Given the description of an element on the screen output the (x, y) to click on. 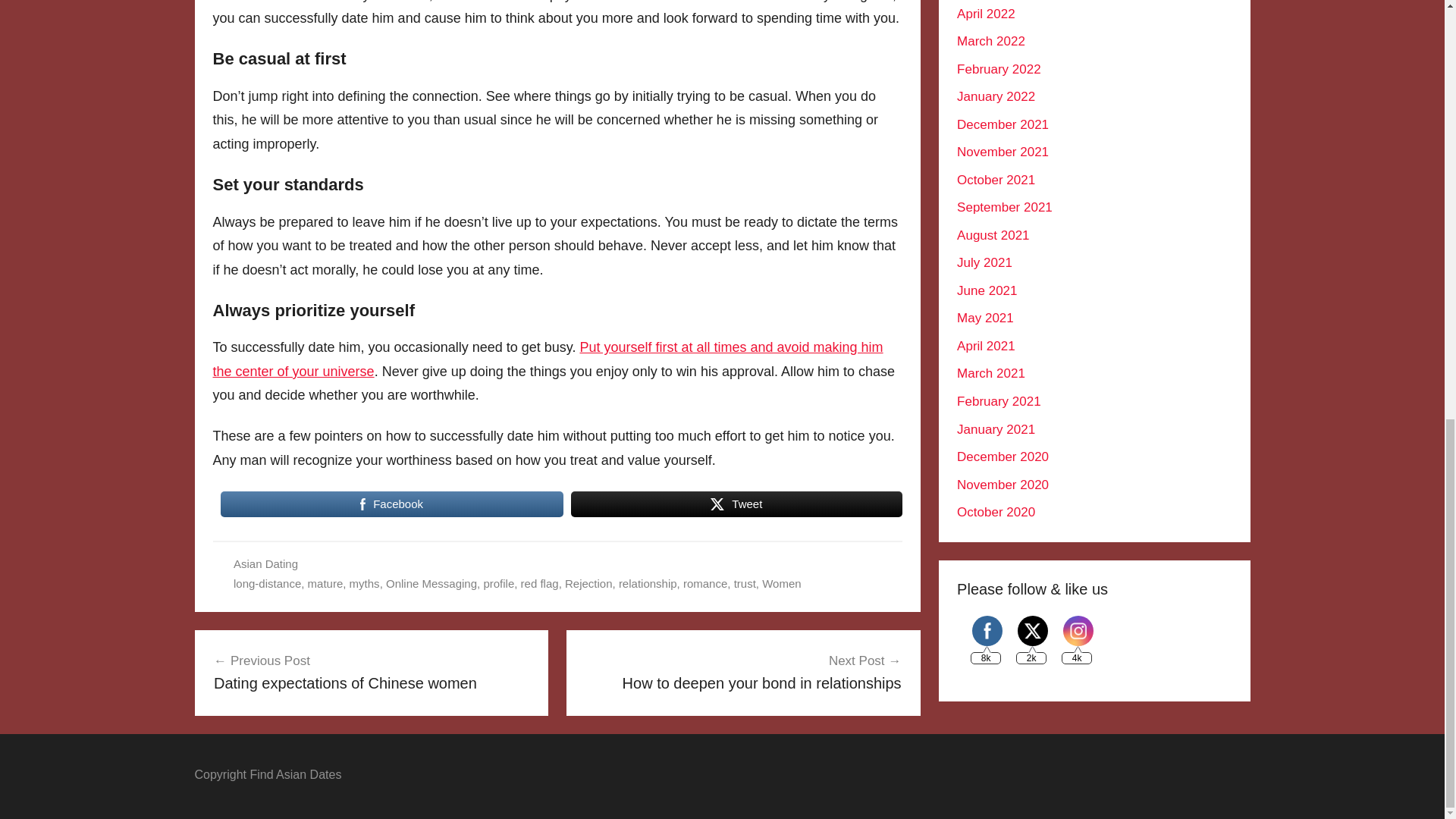
Women (780, 583)
profile (498, 583)
trust (744, 583)
Asian Dating (265, 563)
Facebook (390, 503)
romance (704, 583)
red flag (540, 583)
Tweet (736, 503)
Twitter (1033, 630)
myths (364, 583)
relationship (647, 583)
Facebook (986, 630)
mature (325, 583)
long-distance (266, 583)
